Given the description of an element on the screen output the (x, y) to click on. 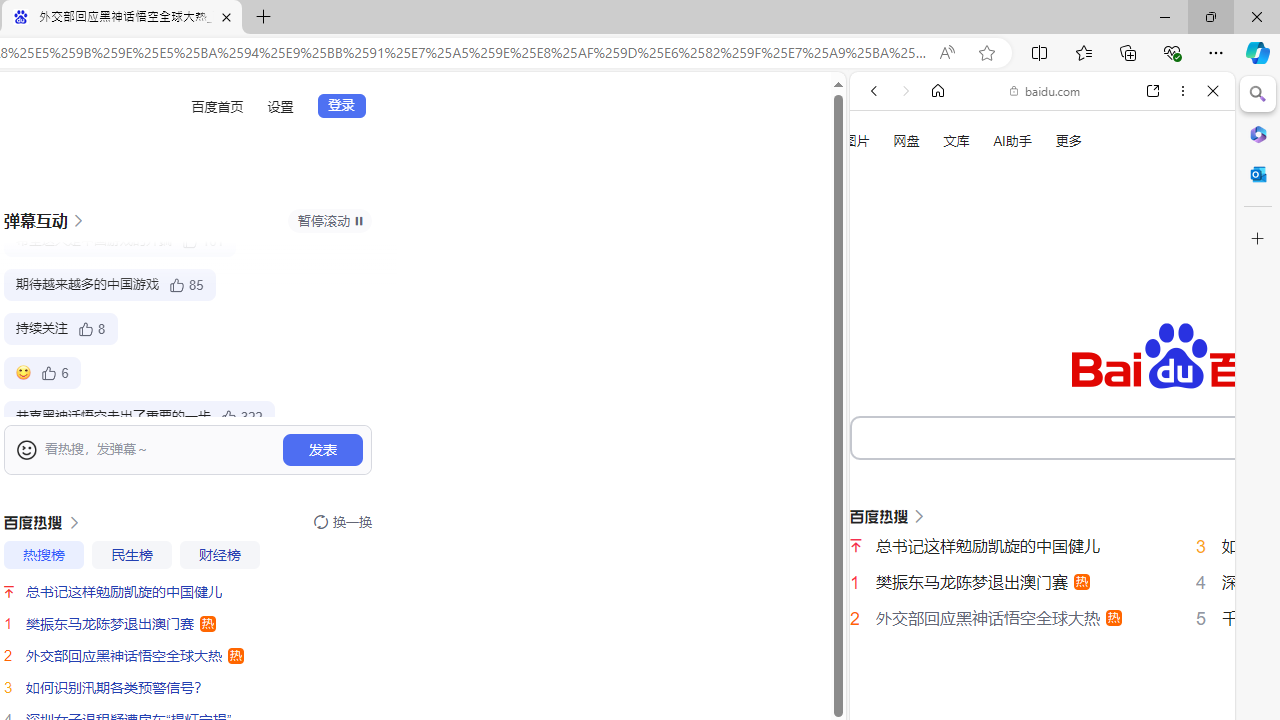
English (Uk) (1042, 628)
Close (1213, 91)
This site scope (936, 180)
Home (938, 91)
Global web icon (888, 698)
Minimize (1164, 16)
Web scope (882, 180)
Microsoft 365 (1258, 133)
English (US) (1042, 579)
SEARCH TOOLS (1093, 339)
